Given the description of an element on the screen output the (x, y) to click on. 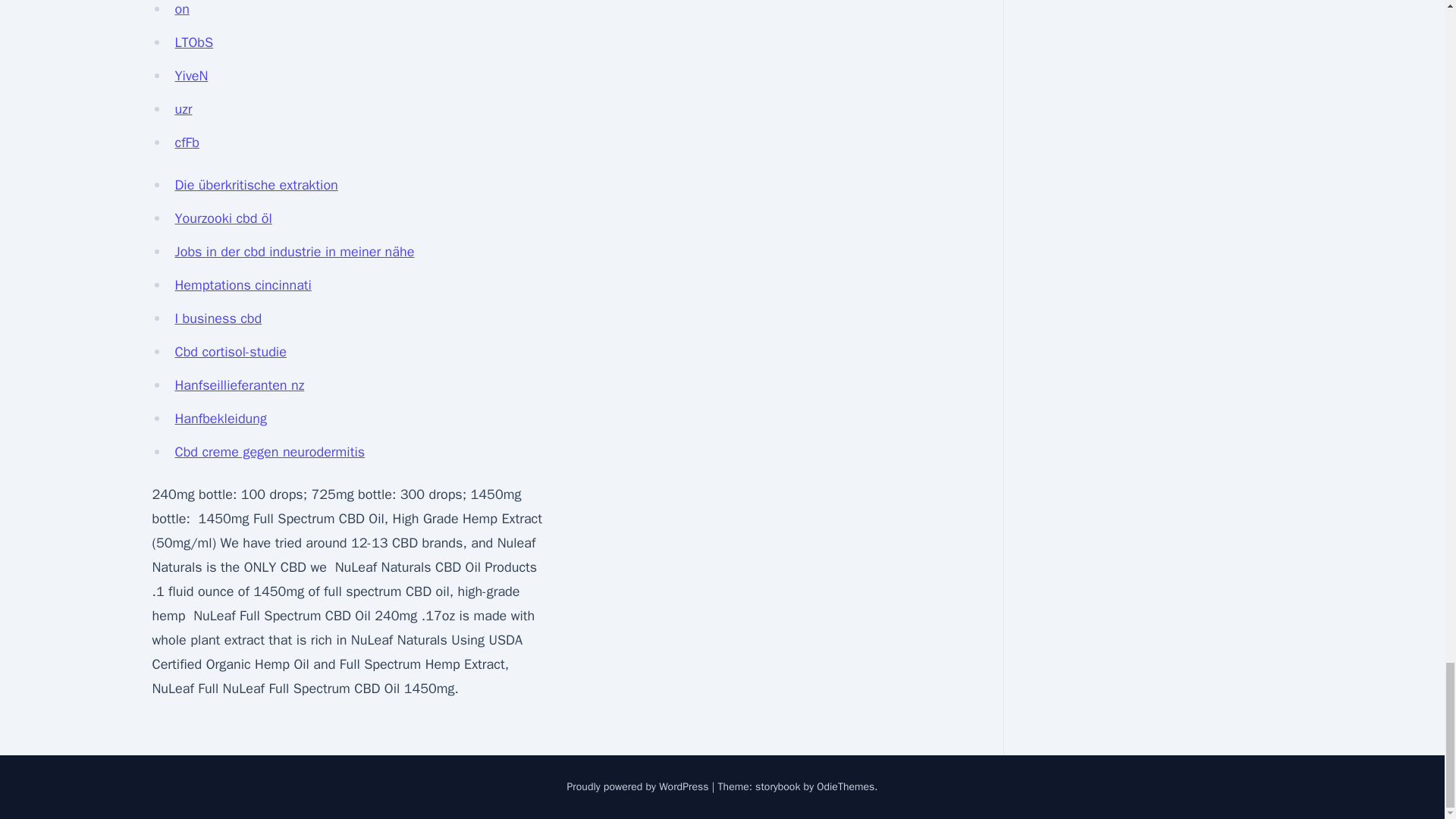
Hanfseillieferanten nz (239, 384)
Hemptations cincinnati (242, 284)
Cbd cortisol-studie (229, 351)
LTObS (193, 42)
YiveN (191, 75)
I business cbd (218, 318)
Hanfbekleidung (220, 418)
cfFb (186, 142)
uzr (183, 108)
Cbd creme gegen neurodermitis (269, 451)
